Given the description of an element on the screen output the (x, y) to click on. 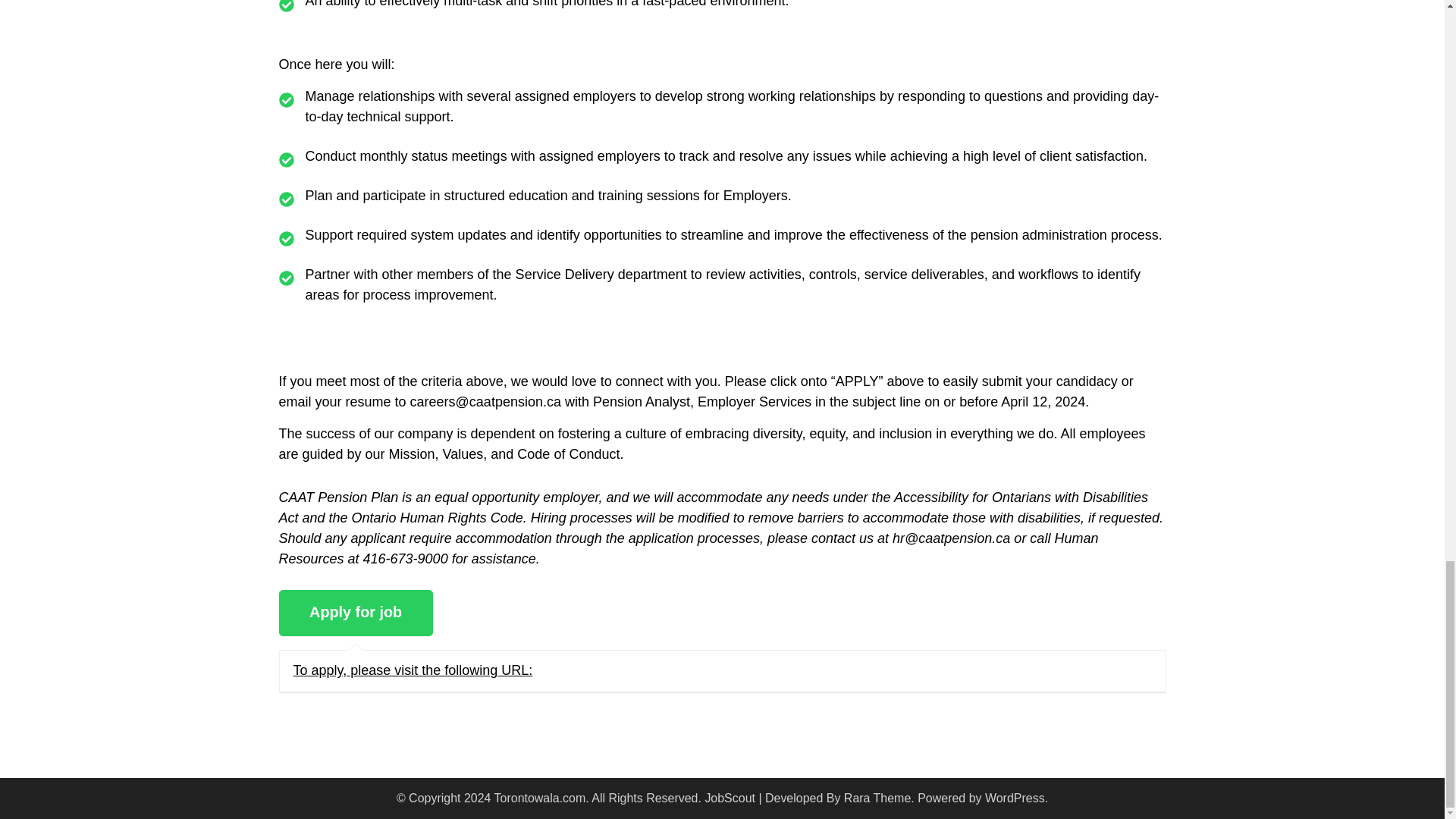
Rara Theme (877, 797)
Torontowala.com (540, 797)
To apply, please visit the following URL: (412, 670)
Apply for job (355, 612)
WordPress (1015, 797)
